Given the description of an element on the screen output the (x, y) to click on. 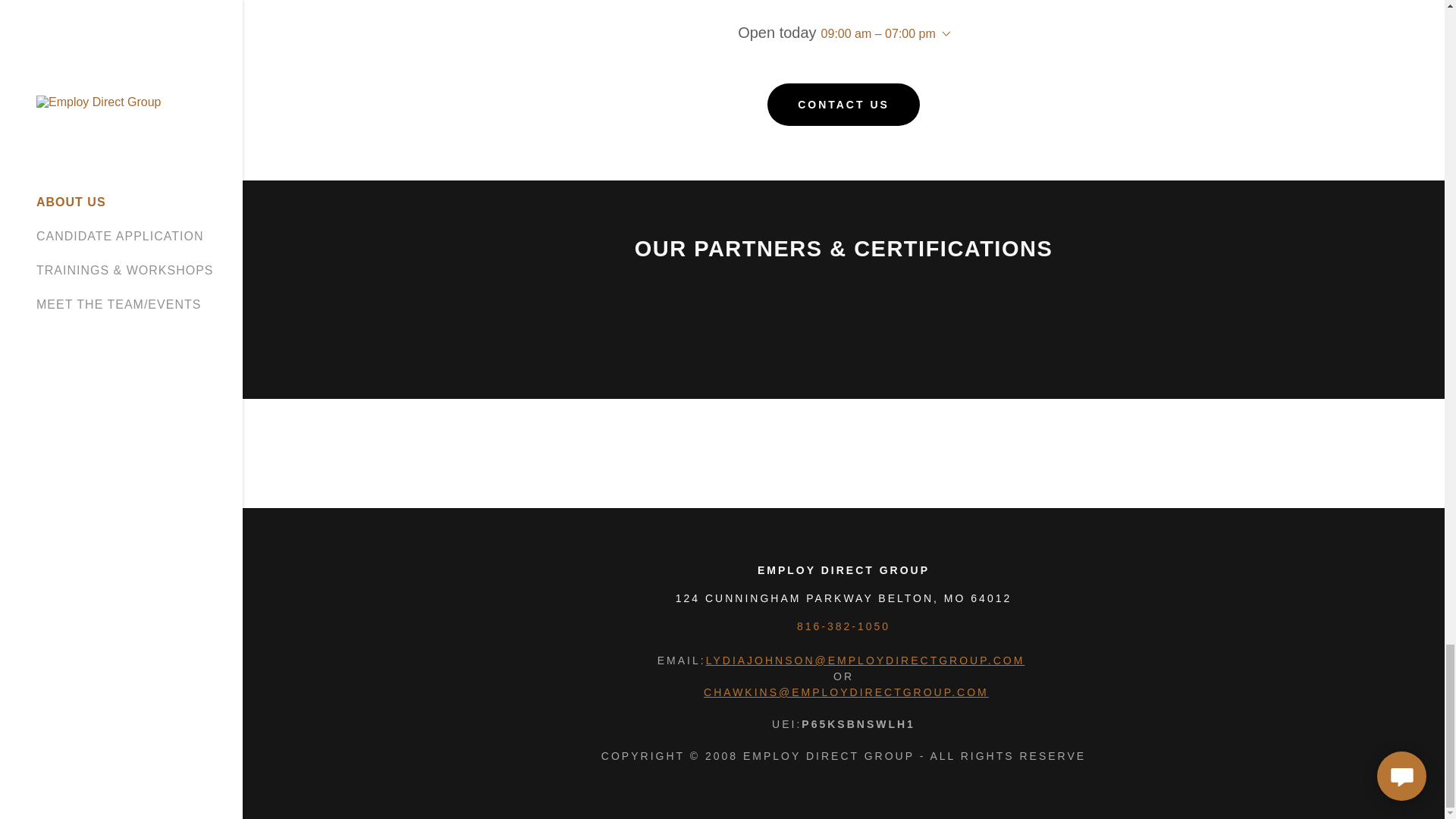
816-382-1050 (842, 625)
CONTACT US (843, 104)
